Given the description of an element on the screen output the (x, y) to click on. 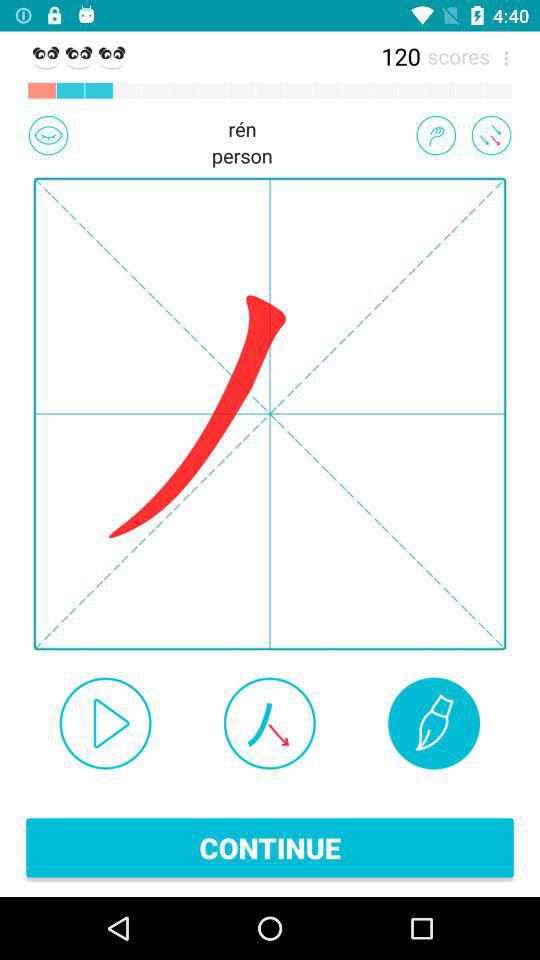
play sound (105, 723)
